Given the description of an element on the screen output the (x, y) to click on. 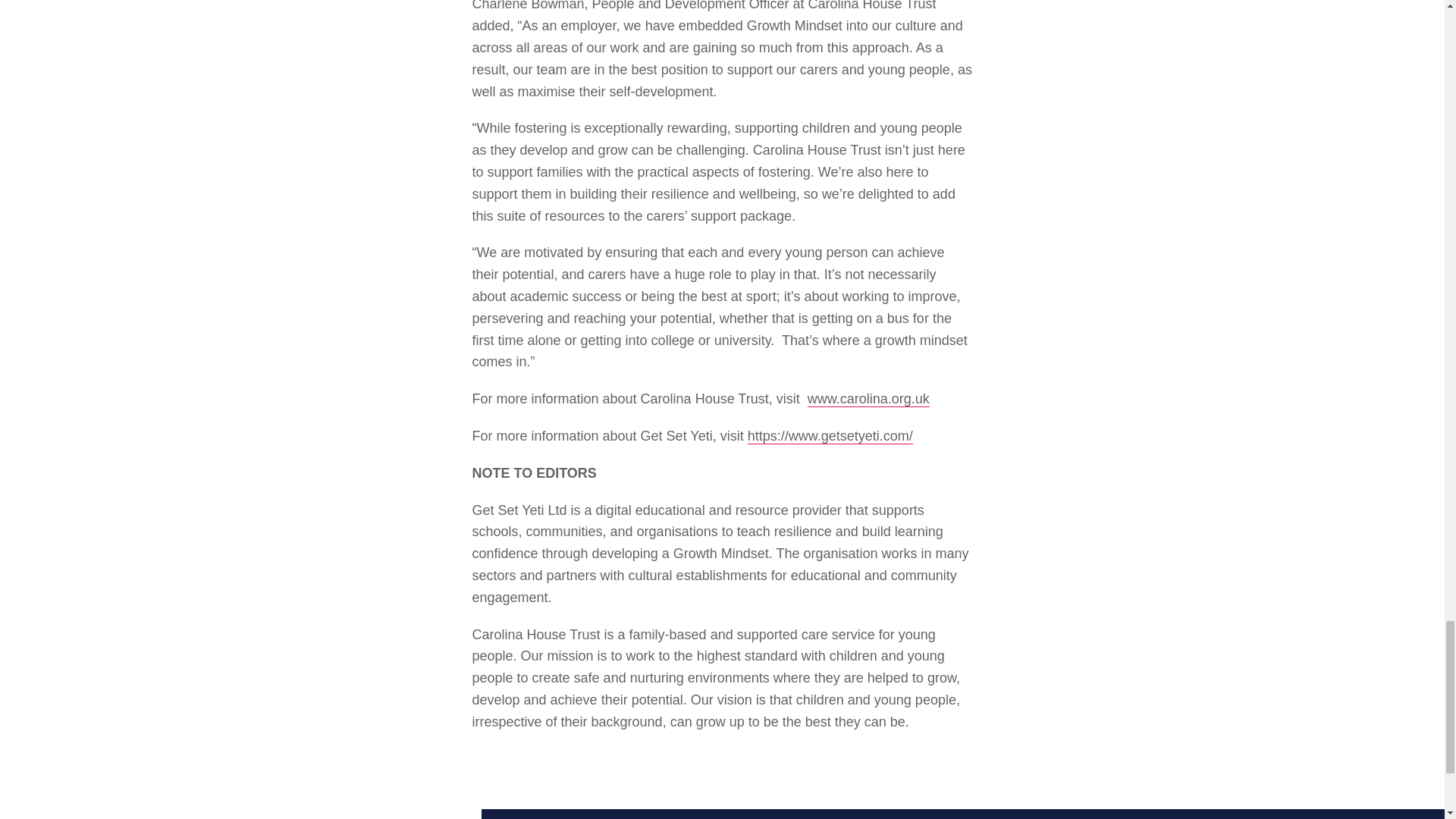
Grainger PR (239, 814)
www.carolina.org.uk (869, 399)
Return to Grainger PR's homepage (239, 814)
